Given the description of an element on the screen output the (x, y) to click on. 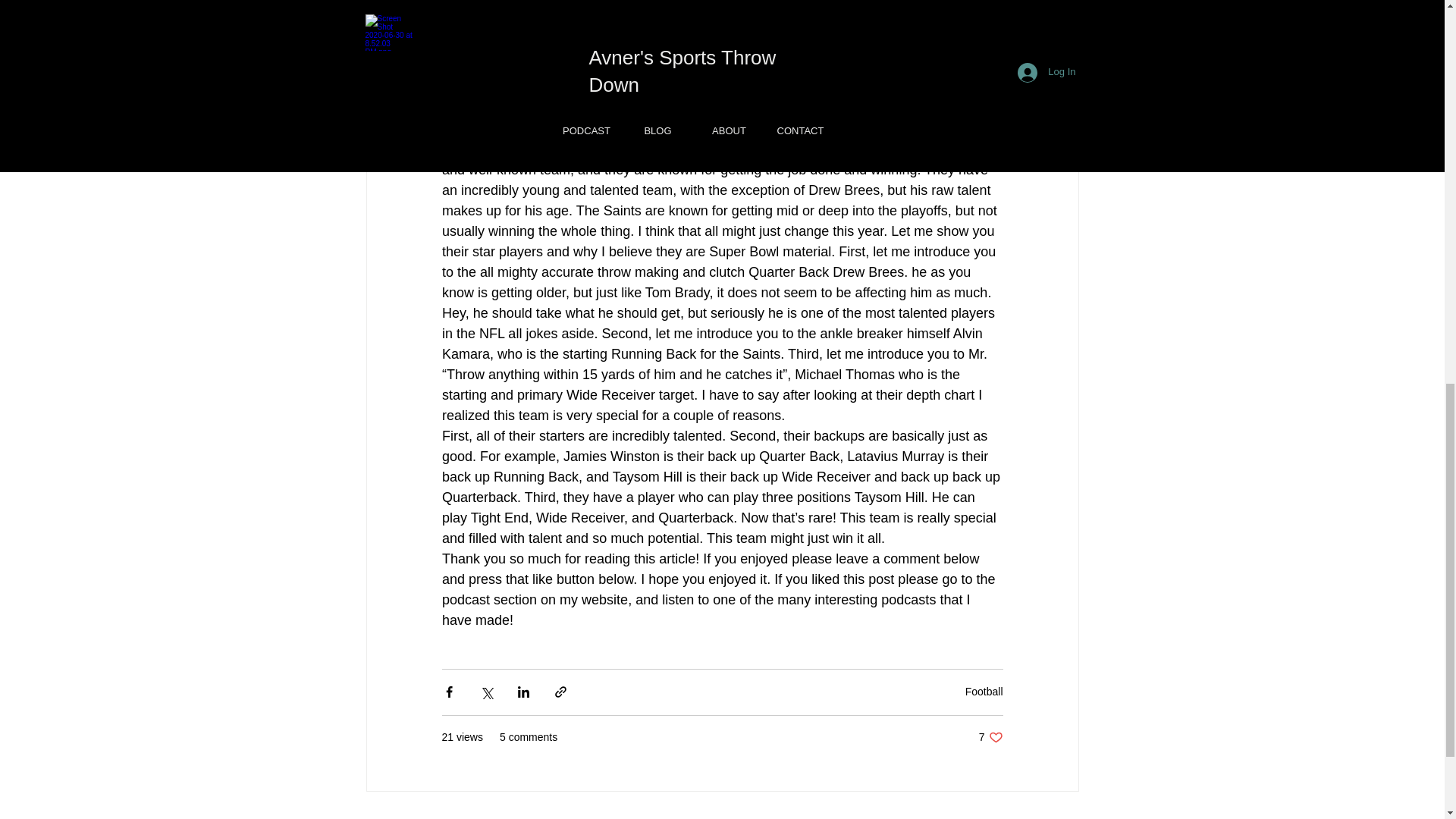
Football (990, 737)
